Given the description of an element on the screen output the (x, y) to click on. 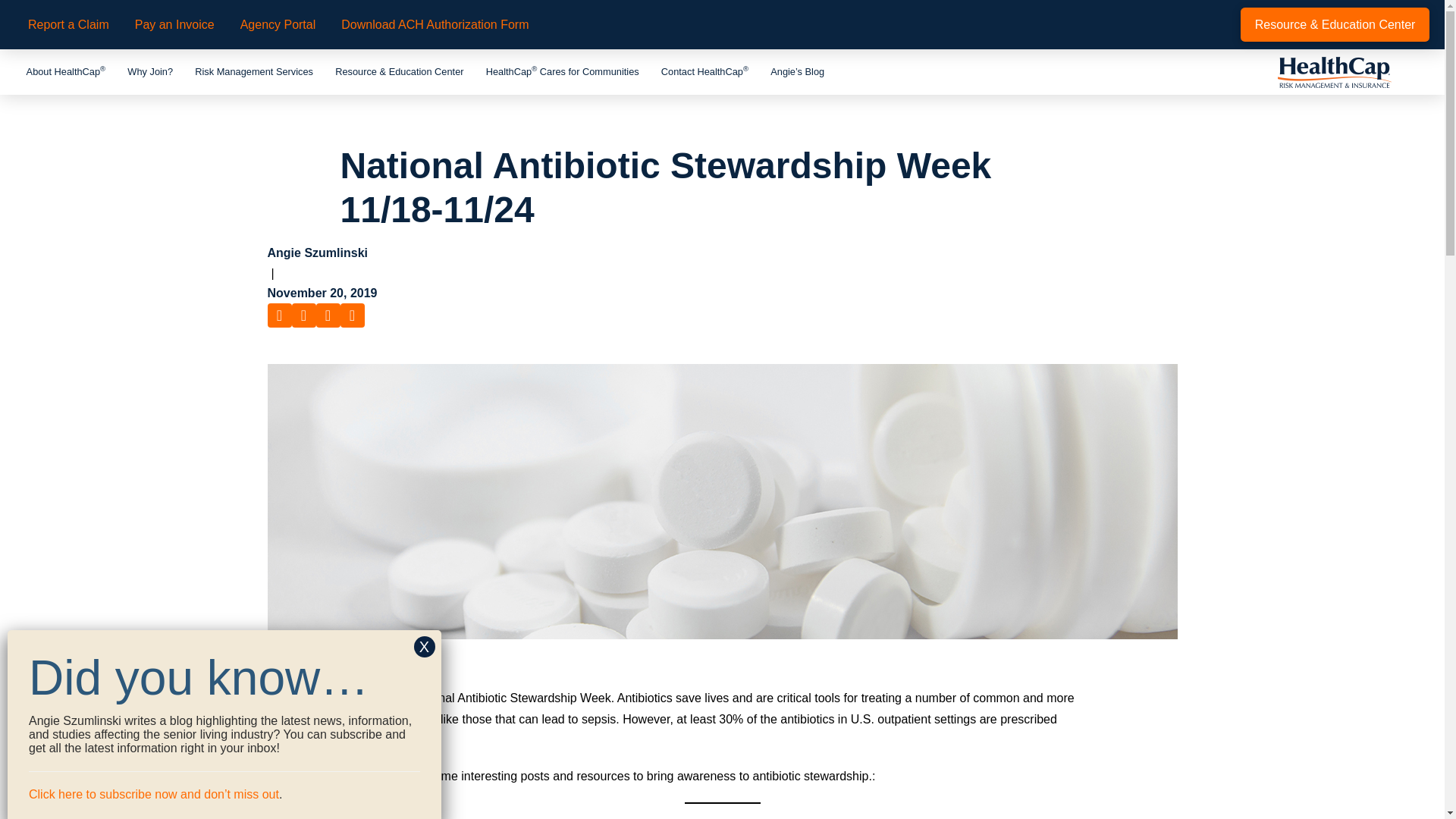
Download ACH Authorization Form (435, 24)
Agency Portal (278, 24)
Report a Claim (68, 24)
Pay an Invoice (174, 24)
Risk Management Services (254, 72)
Why Join? (150, 72)
